Given the description of an element on the screen output the (x, y) to click on. 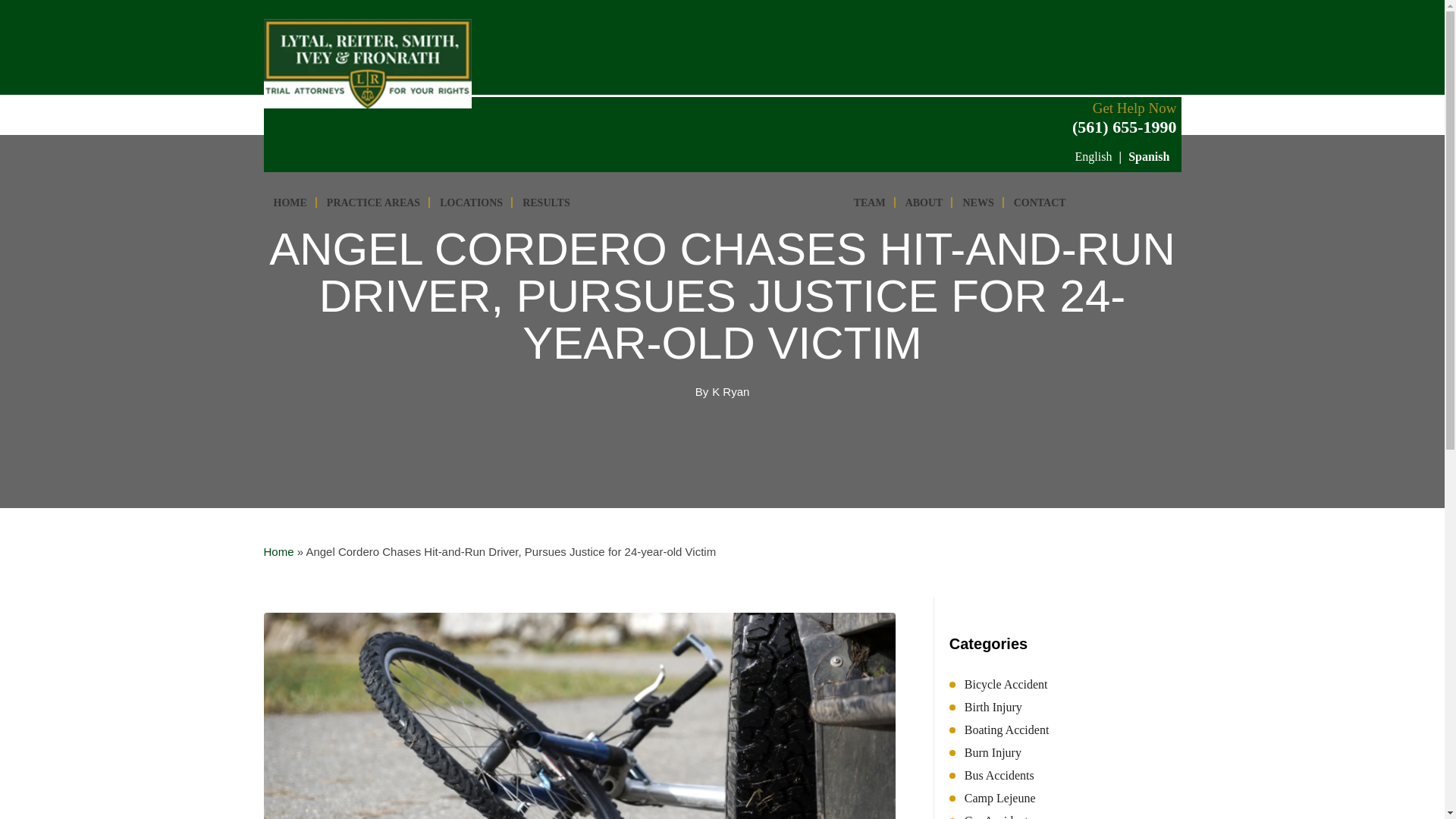
HOME (290, 199)
Spanish (1148, 155)
Home (278, 551)
PRACTICE AREAS (373, 199)
LOCATIONS (470, 199)
Posts by K Ryan (730, 392)
K Ryan (730, 392)
Florida Trial Attorneys (711, 140)
ABOUT (924, 199)
